Given the description of an element on the screen output the (x, y) to click on. 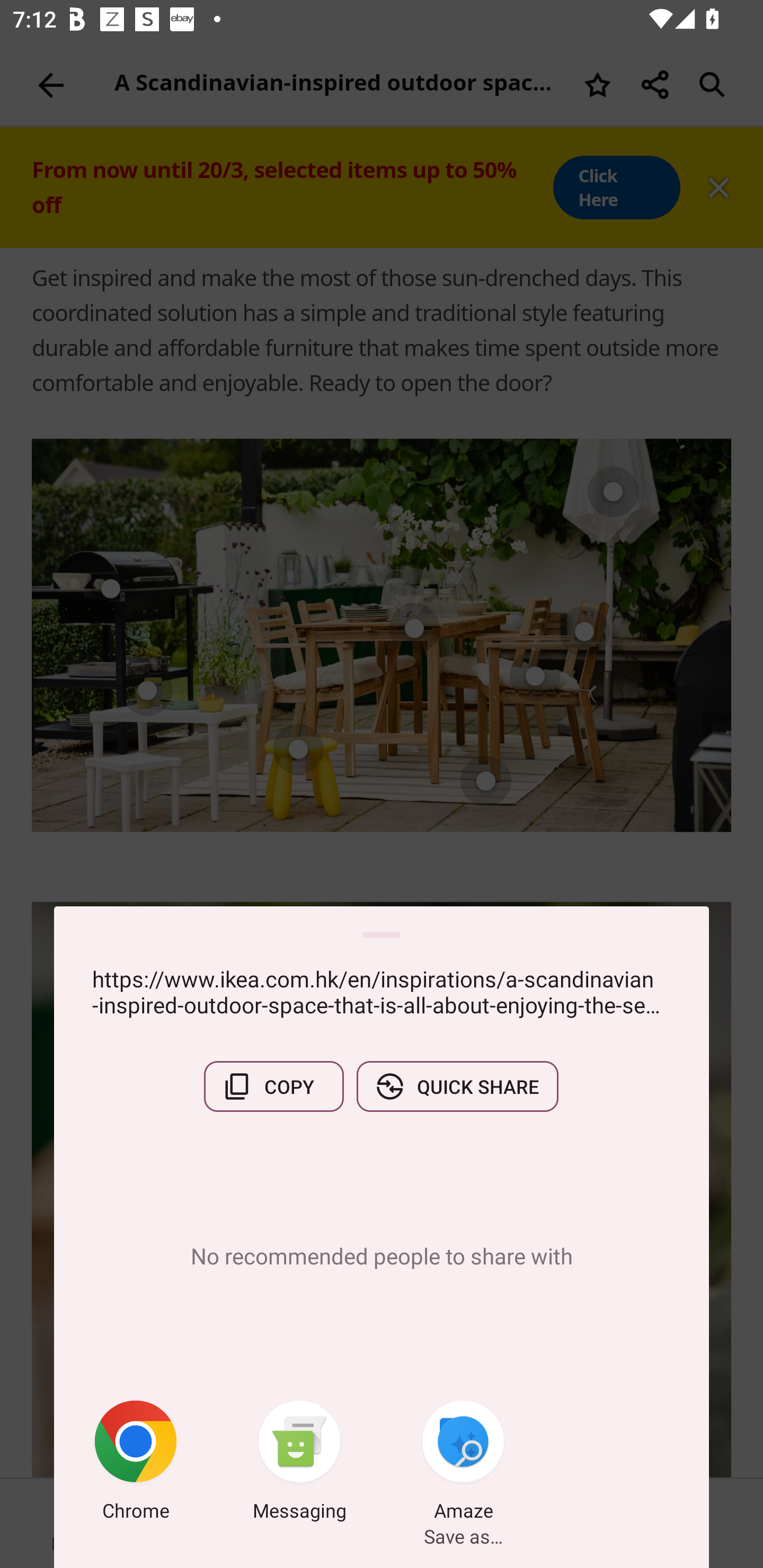
COPY (273, 1086)
QUICK SHARE (457, 1086)
Chrome (135, 1463)
Messaging (299, 1463)
Amaze Save as… (463, 1463)
